Given the description of an element on the screen output the (x, y) to click on. 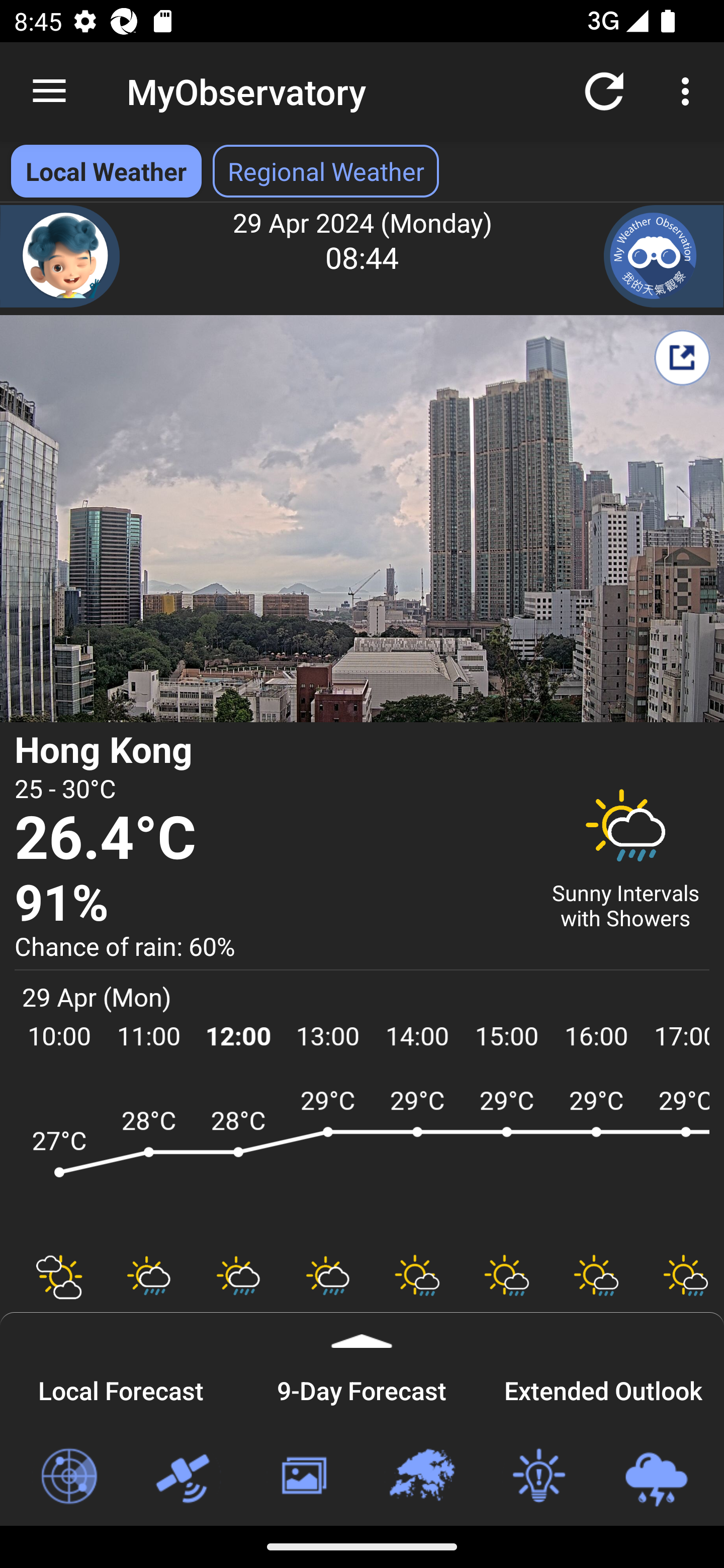
Navigate up (49, 91)
Refresh (604, 90)
More options (688, 90)
Local Weather Local Weather selected (105, 170)
Regional Weather Select Regional Weather (325, 170)
Chatbot (60, 256)
My Weather Observation (663, 256)
Share My Weather Report (681, 357)
26.4°C Temperature
26.4 degree Celsius (270, 839)
91% Relative Humidity
91 percent (270, 903)
ARWF (361, 1160)
Expand (362, 1330)
Local Forecast (120, 1387)
Extended Outlook (603, 1387)
Radar Images (68, 1476)
Satellite Images (185, 1476)
Weather Photos (302, 1476)
Regional Weather (420, 1476)
Weather Tips (537, 1476)
Loc-based Rain & Lightning Forecast (655, 1476)
